Given the description of an element on the screen output the (x, y) to click on. 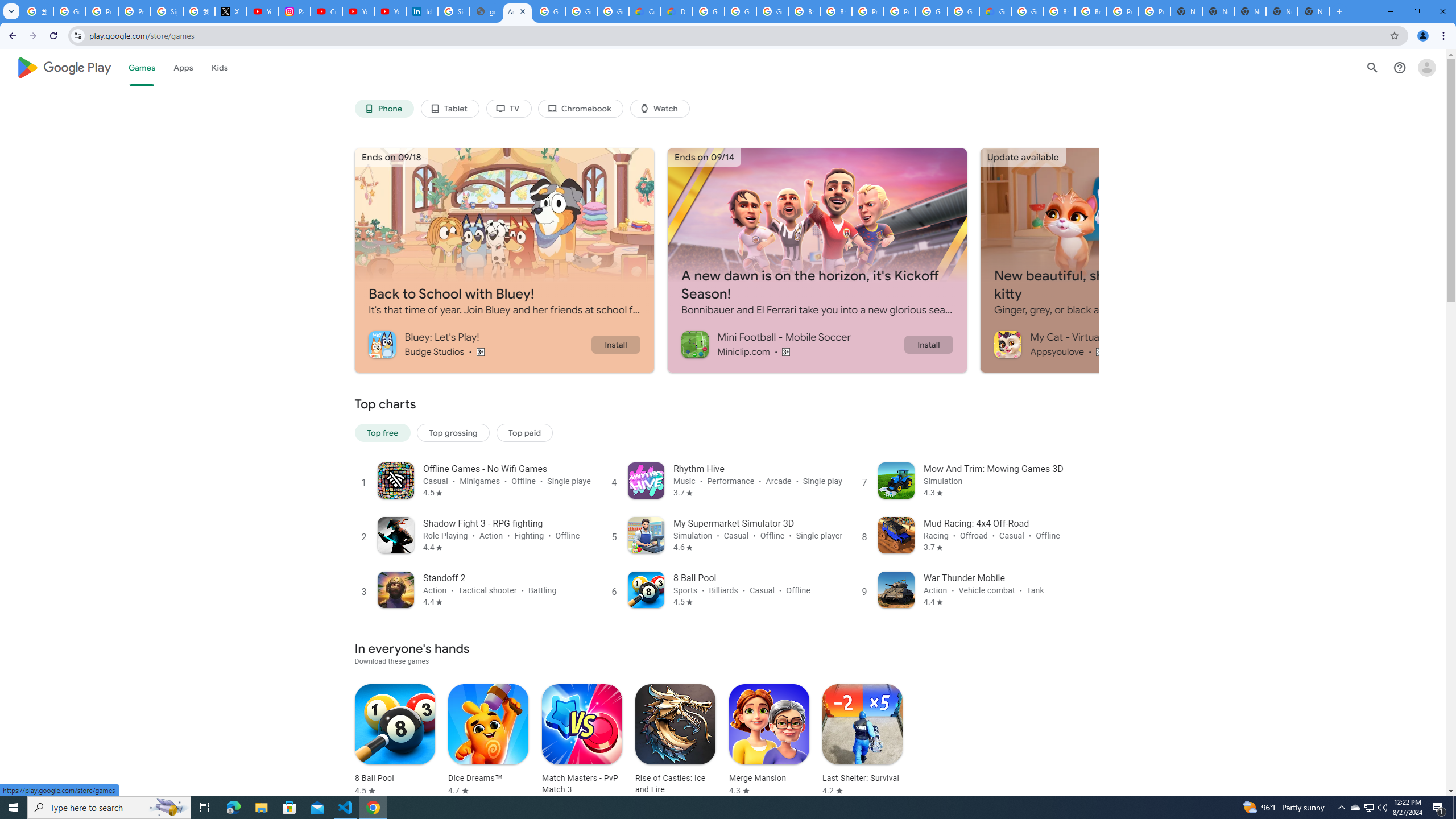
YouTube Culture & Trends - YouTube Top 10, 2021 (389, 11)
